Given the description of an element on the screen output the (x, y) to click on. 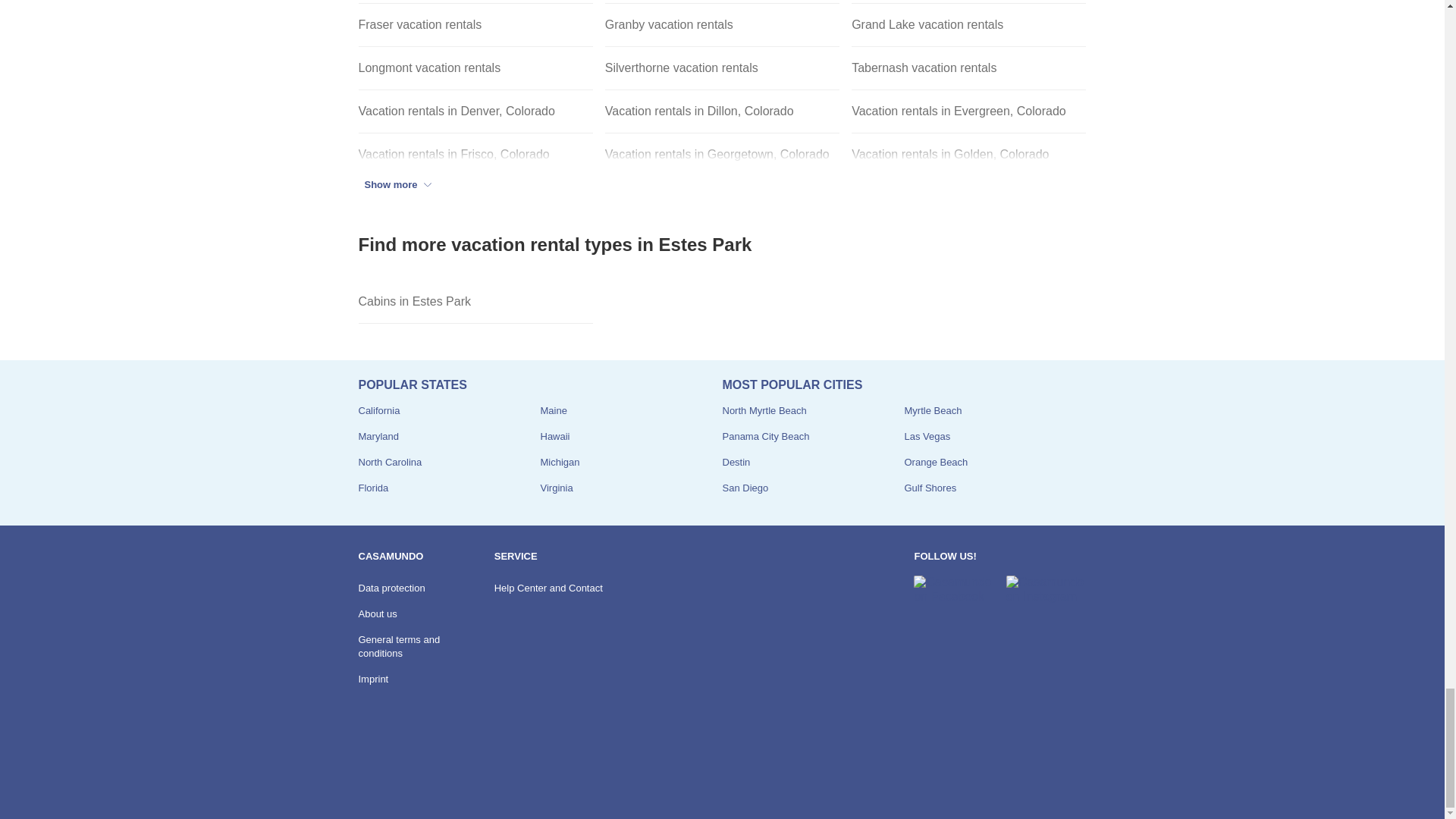
Grand Lake vacation rentals (968, 25)
Granby vacation rentals (722, 25)
Fort Collins vacation rentals (968, 2)
Fraser vacation rentals (475, 25)
Boulder vacation rentals (722, 2)
Arvada vacation rentals (475, 2)
